Given the description of an element on the screen output the (x, y) to click on. 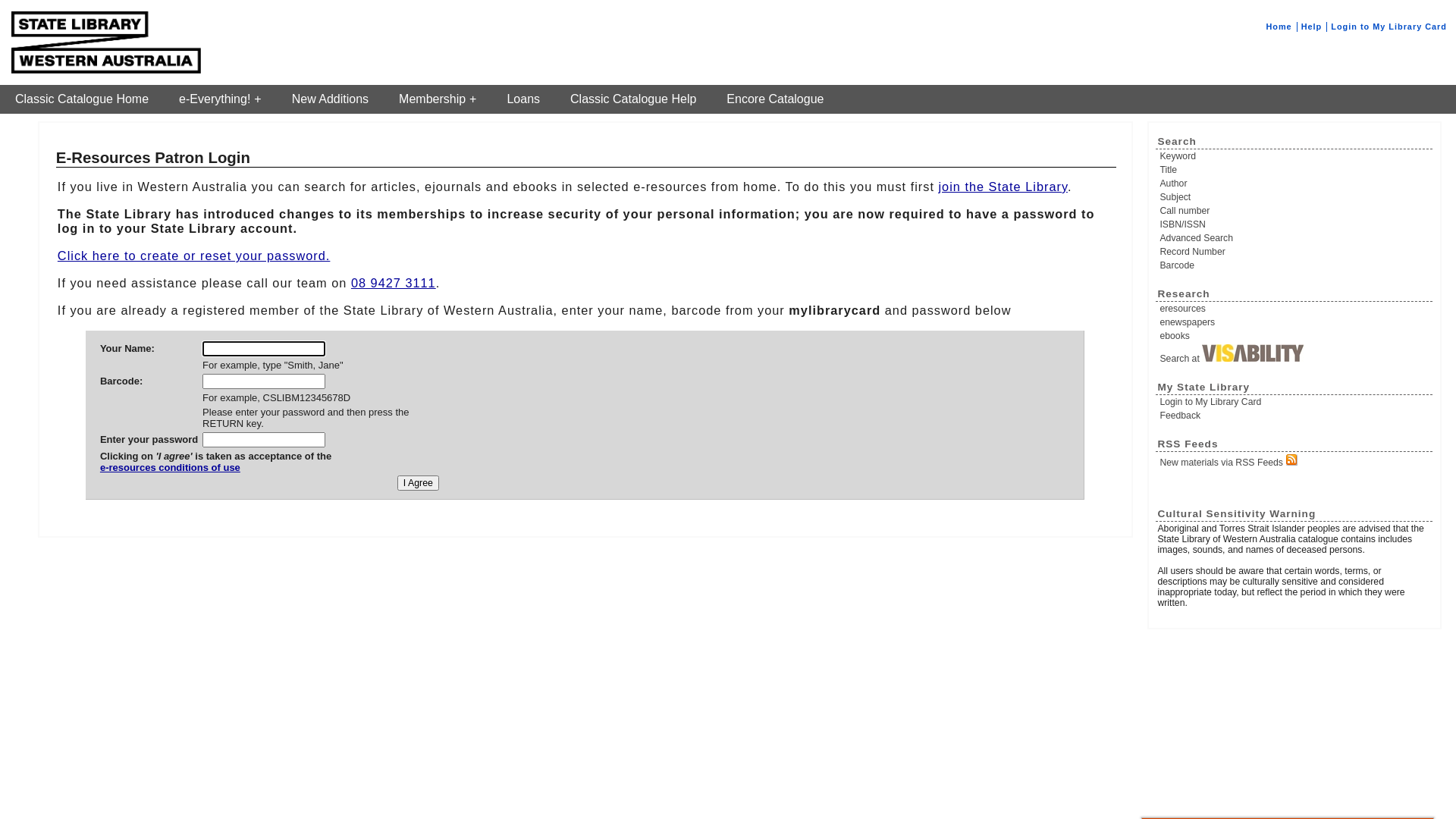
ISBN/ISSN Element type: text (1294, 224)
New Additions Element type: text (329, 98)
Search at Element type: text (1294, 354)
Title Element type: text (1294, 169)
Click here to create or reset your password. Element type: text (193, 255)
Loans Element type: text (523, 98)
enewspapers Element type: text (1294, 321)
Advanced Search Element type: text (1294, 237)
Subject Element type: text (1294, 196)
Encore Catalogue Element type: text (774, 98)
Classic Catalogue Home Element type: text (81, 98)
eresources Element type: text (1294, 308)
I Agree Element type: text (418, 482)
e-resources conditions of use Element type: text (215, 472)
Call number Element type: text (1294, 210)
Keyword Element type: text (1294, 155)
Home Element type: text (1278, 26)
Login to My Library Card Element type: text (1388, 26)
Barcode Element type: text (1294, 265)
Record Number Element type: text (1294, 251)
Classic Catalogue Help Element type: text (633, 98)
New materials via RSS Feeds Element type: text (1294, 460)
Membership Element type: text (437, 98)
Author Element type: text (1294, 183)
Help Element type: text (1311, 26)
ebooks Element type: text (1294, 335)
08 9427 3111 Element type: text (393, 282)
Feedback Element type: text (1294, 415)
e-Everything! Element type: text (219, 98)
join the State Library Element type: text (1002, 186)
Login to My Library Card Element type: text (1294, 401)
